Given the description of an element on the screen output the (x, y) to click on. 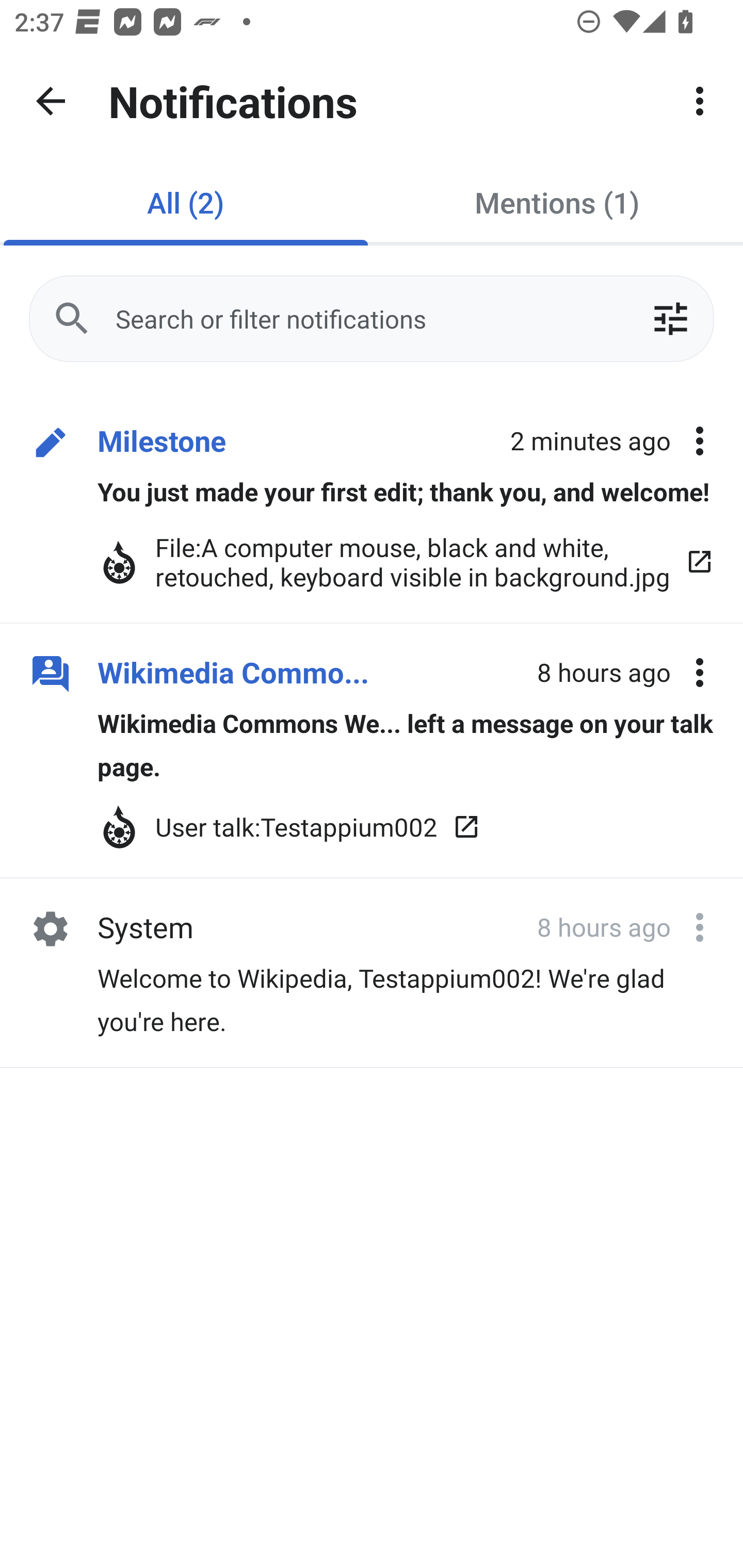
Navigate up (50, 101)
More (699, 101)
Mentions (1) (557, 202)
Notification filter (670, 318)
More options (699, 441)
More options (699, 672)
More options (699, 927)
